Given the description of an element on the screen output the (x, y) to click on. 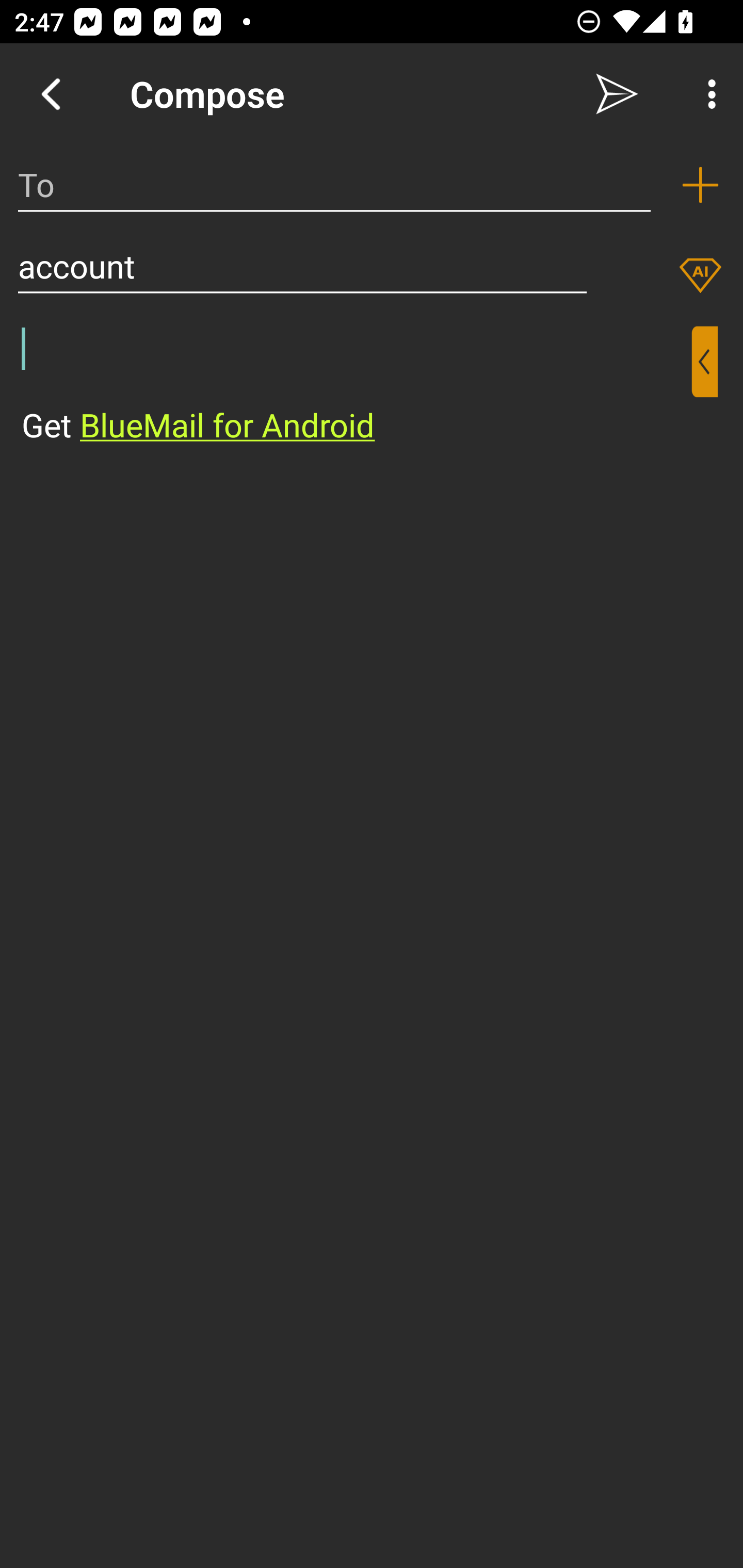
Navigate up (50, 93)
Send (616, 93)
More Options (706, 93)
To (334, 184)
Add recipient (To) (699, 184)
account (302, 266)


⁣Get BlueMail for Android ​ (355, 386)
